Given the description of an element on the screen output the (x, y) to click on. 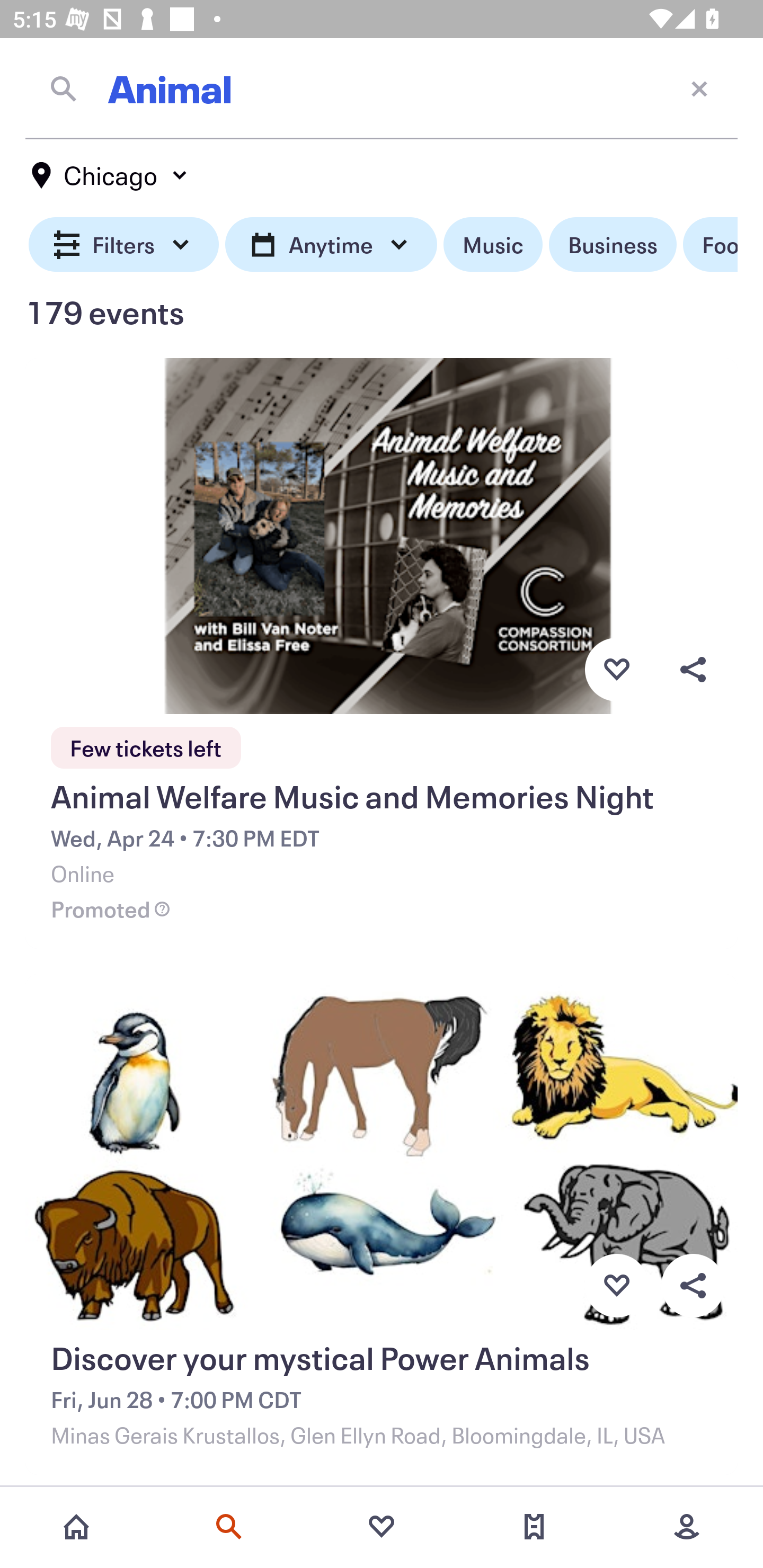
Animal Close current screen (381, 88)
Close current screen (699, 88)
Chicago (110, 175)
Filters (123, 244)
Anytime (331, 244)
Music (492, 244)
Business (612, 244)
Favorite button (616, 669)
Overflow menu button (692, 669)
Favorite button (616, 1285)
Overflow menu button (692, 1285)
Home (76, 1526)
Search events (228, 1526)
Favorites (381, 1526)
Tickets (533, 1526)
More (686, 1526)
